Given the description of an element on the screen output the (x, y) to click on. 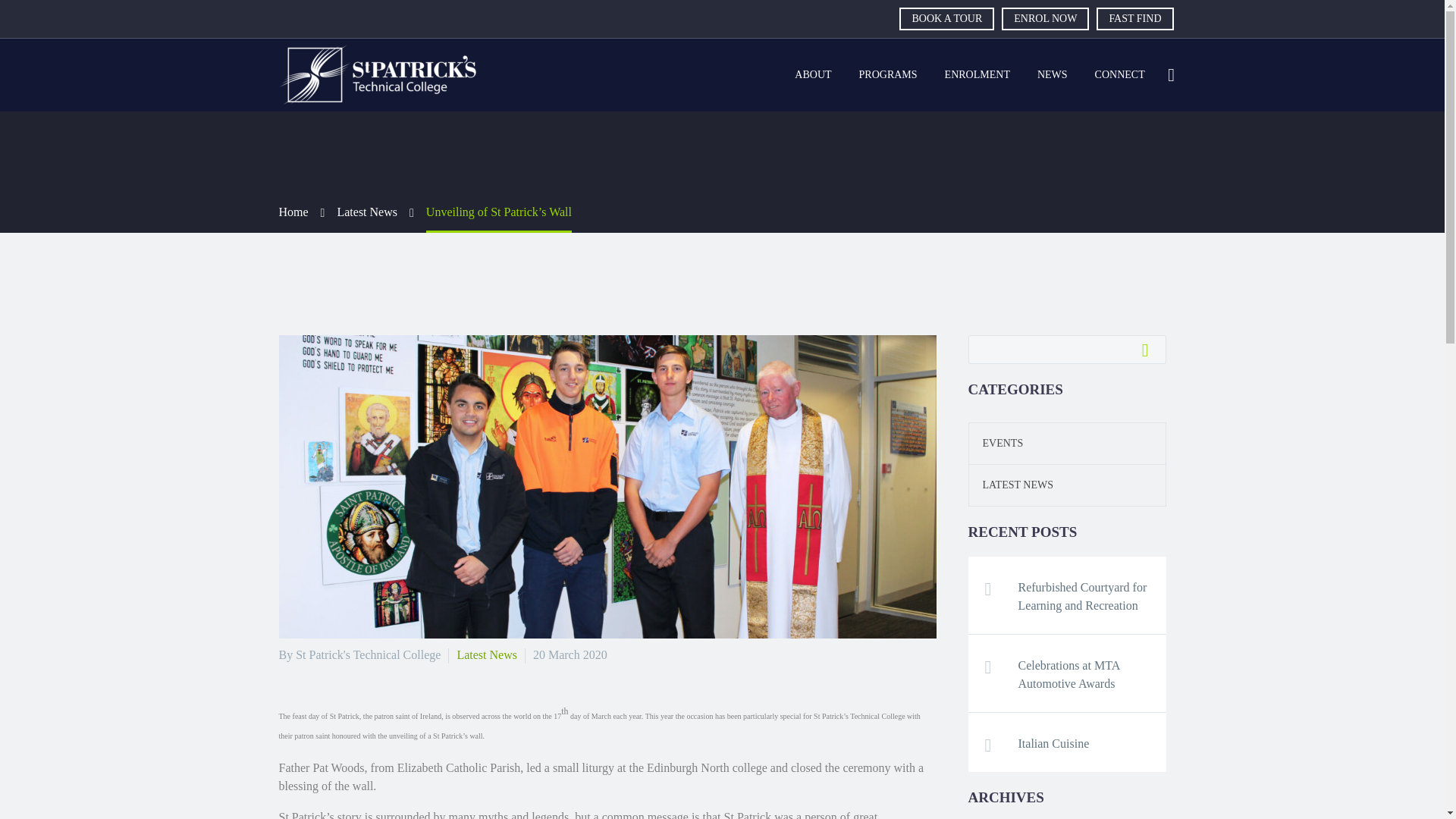
ENROL NOW (1045, 18)
FAST FIND (1134, 18)
BOOK A TOUR (946, 18)
NEWS (1052, 74)
View all posts in Latest News (486, 654)
PROGRAMS (887, 74)
View all posts filed under Events (996, 442)
ABOUT (813, 74)
View all posts filed under Latest News (1010, 484)
ENROLMENT (977, 74)
